Given the description of an element on the screen output the (x, y) to click on. 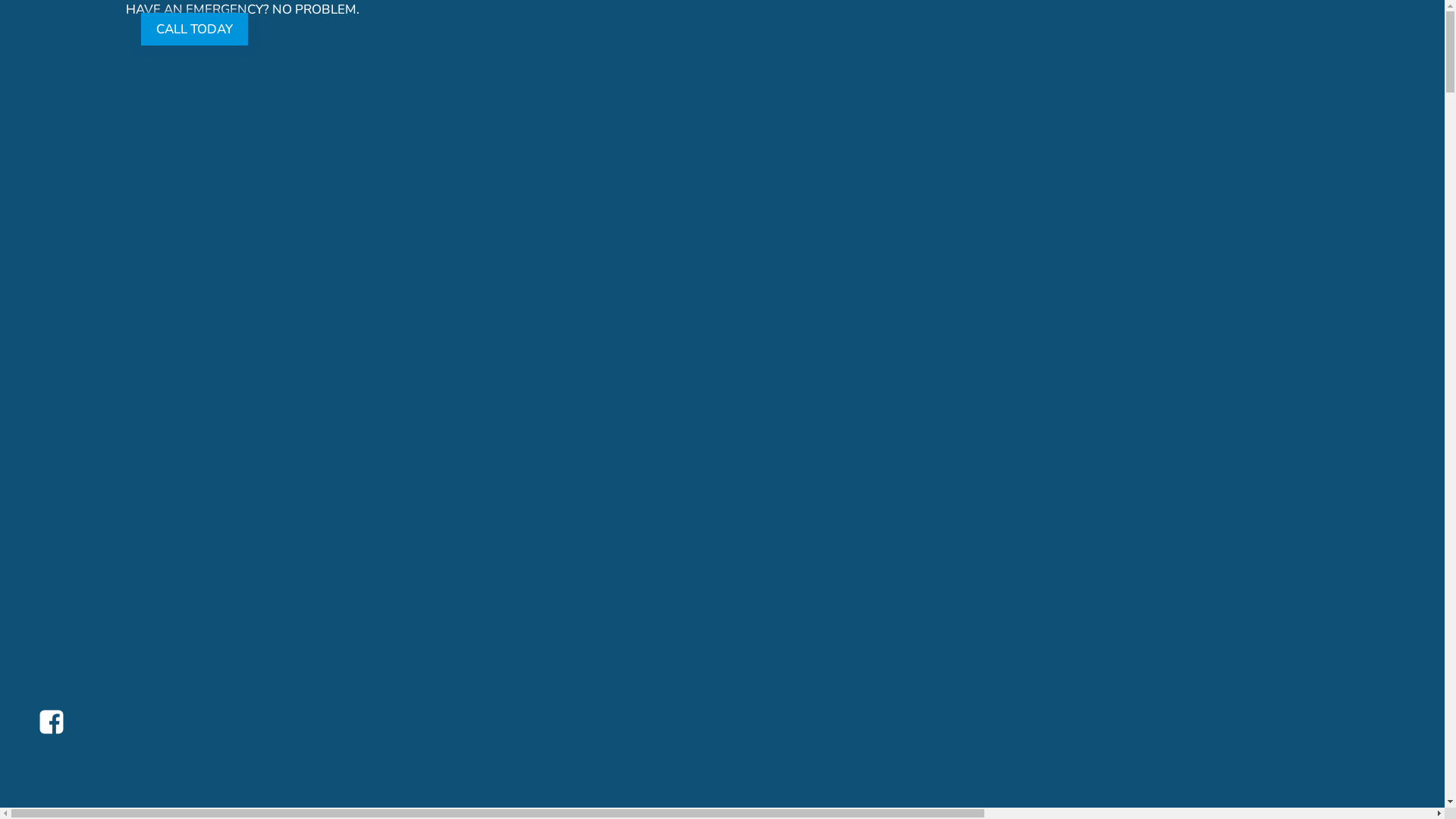
CALL TODAY Element type: text (194, 28)
